Given the description of an element on the screen output the (x, y) to click on. 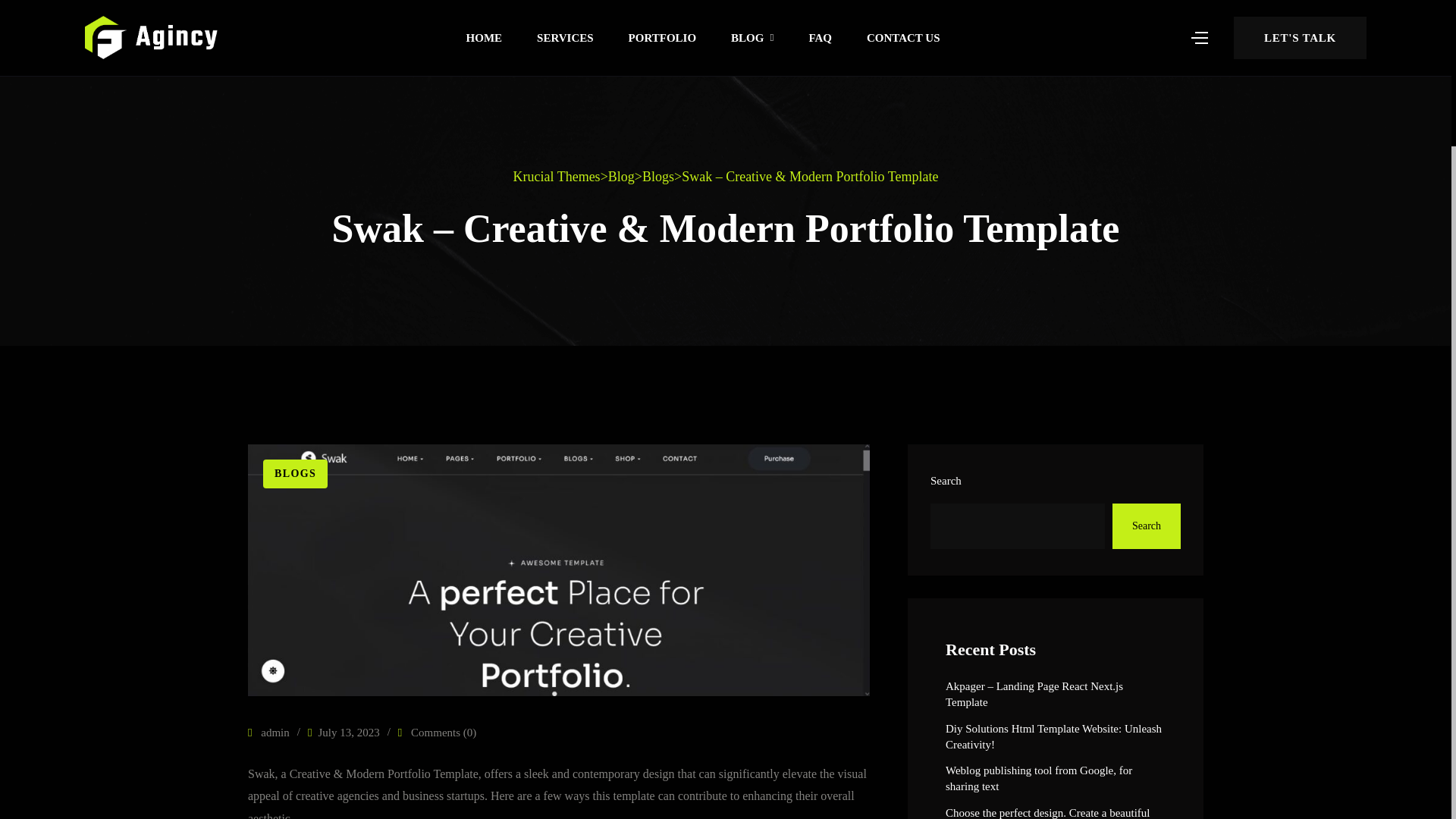
BLOGS (295, 473)
PORTFOLIO (662, 38)
Go to Krucial Themes. (555, 176)
Go to Blog. (621, 176)
July 13, 2023 (347, 732)
admin (268, 732)
CONTACT US (903, 38)
FAQ (820, 38)
LET'S TALK (1300, 37)
HOME (484, 38)
Krucial Themes (555, 176)
Go to the Blogs Category archives. (658, 176)
SERVICES (565, 38)
Blog (621, 176)
Blogs (658, 176)
